Given the description of an element on the screen output the (x, y) to click on. 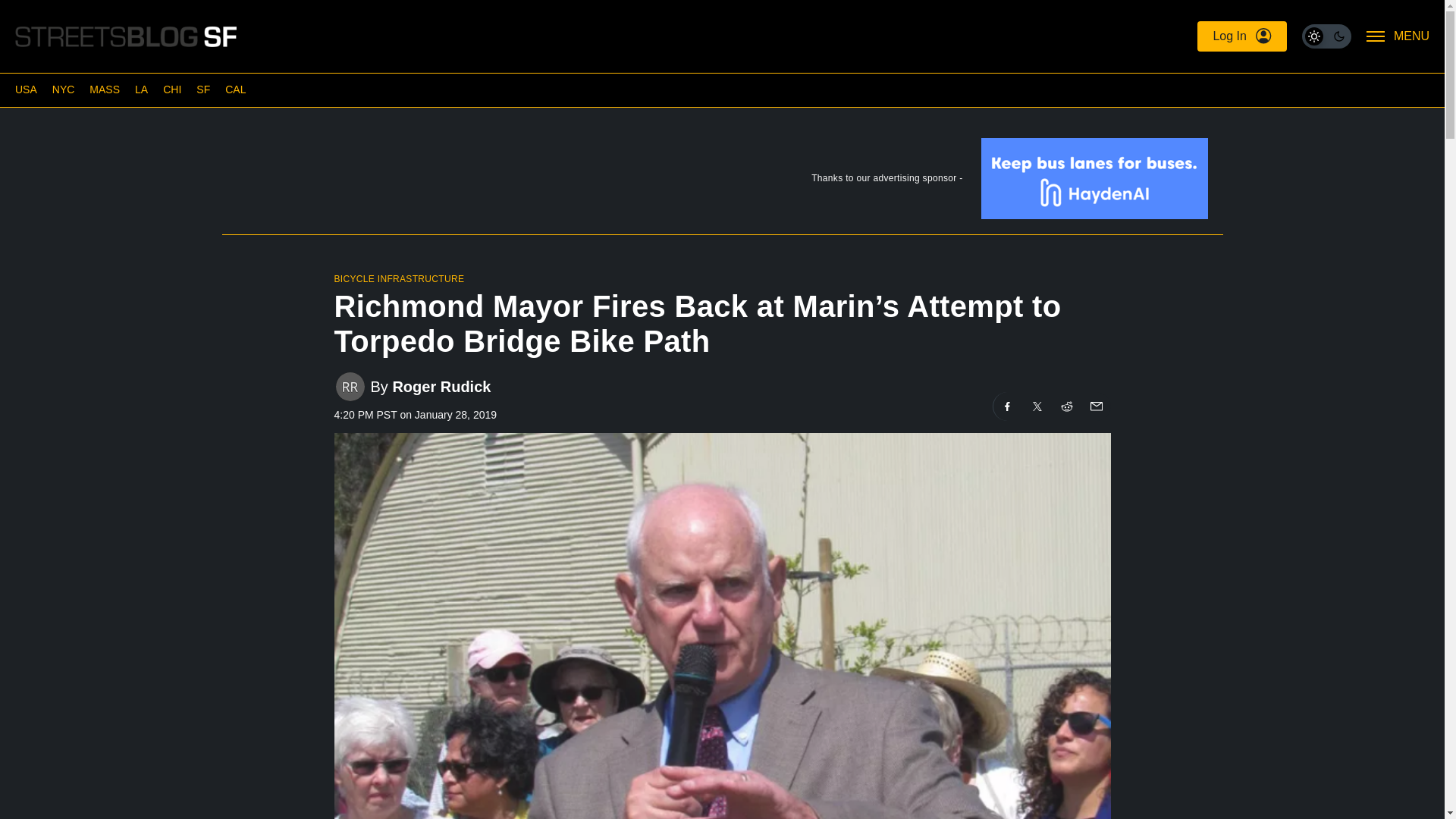
Thanks to our advertising sponsor - (721, 181)
Share on Email (1095, 406)
Share on Facebook (1007, 406)
MENU (1398, 36)
Roger Rudick (440, 386)
Log In (1240, 36)
CAL (235, 89)
USA (25, 89)
BICYCLE INFRASTRUCTURE (398, 278)
Share on Reddit (1066, 406)
